Given the description of an element on the screen output the (x, y) to click on. 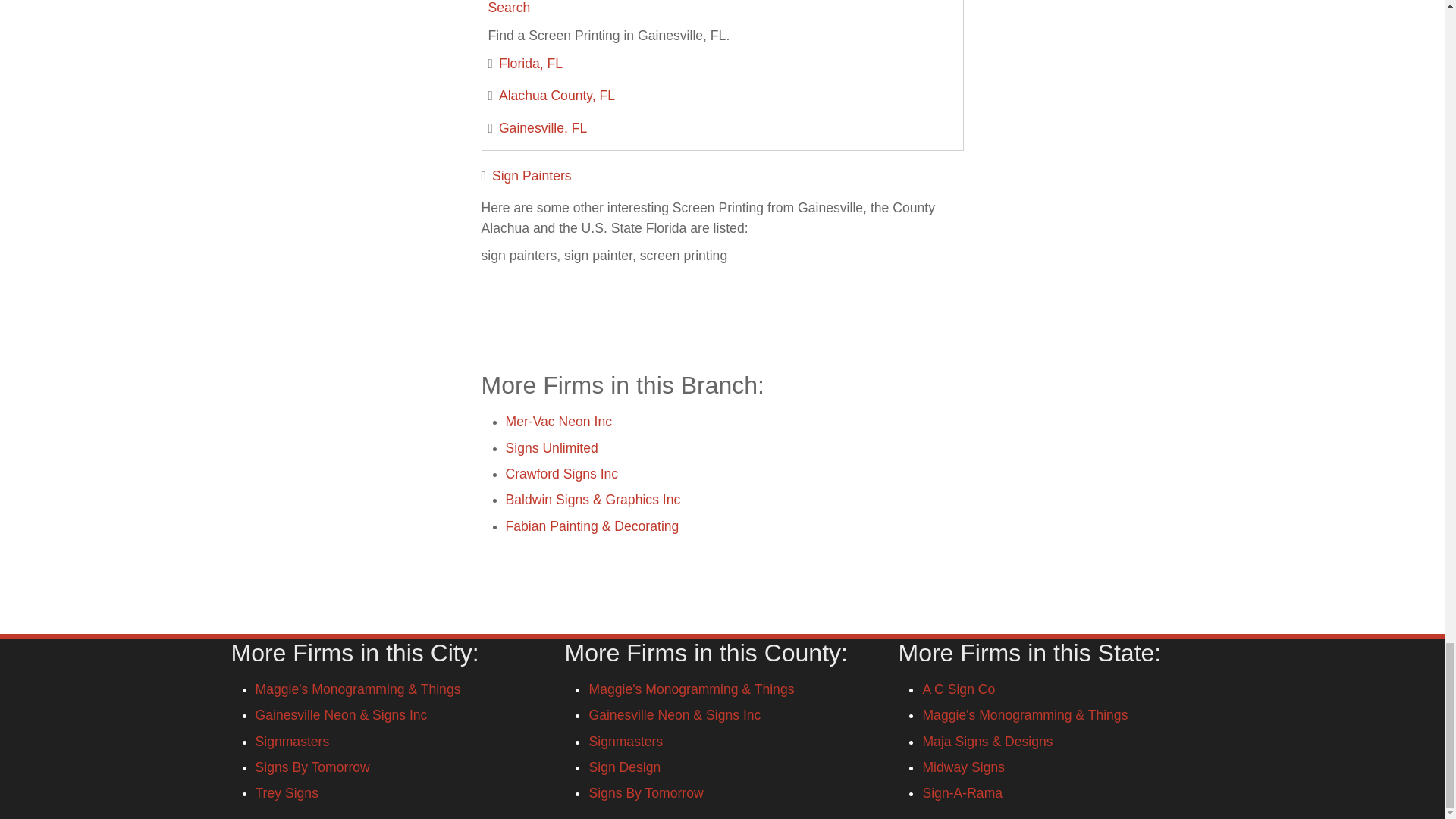
Florida, FL (530, 63)
Search (509, 7)
Gainesville, FL (542, 127)
Mer-Vac Neon Inc (558, 421)
Alachua County, FL (556, 95)
Sign Painters (532, 175)
Crawford Signs Inc (561, 473)
Signs Unlimited (550, 447)
